Given the description of an element on the screen output the (x, y) to click on. 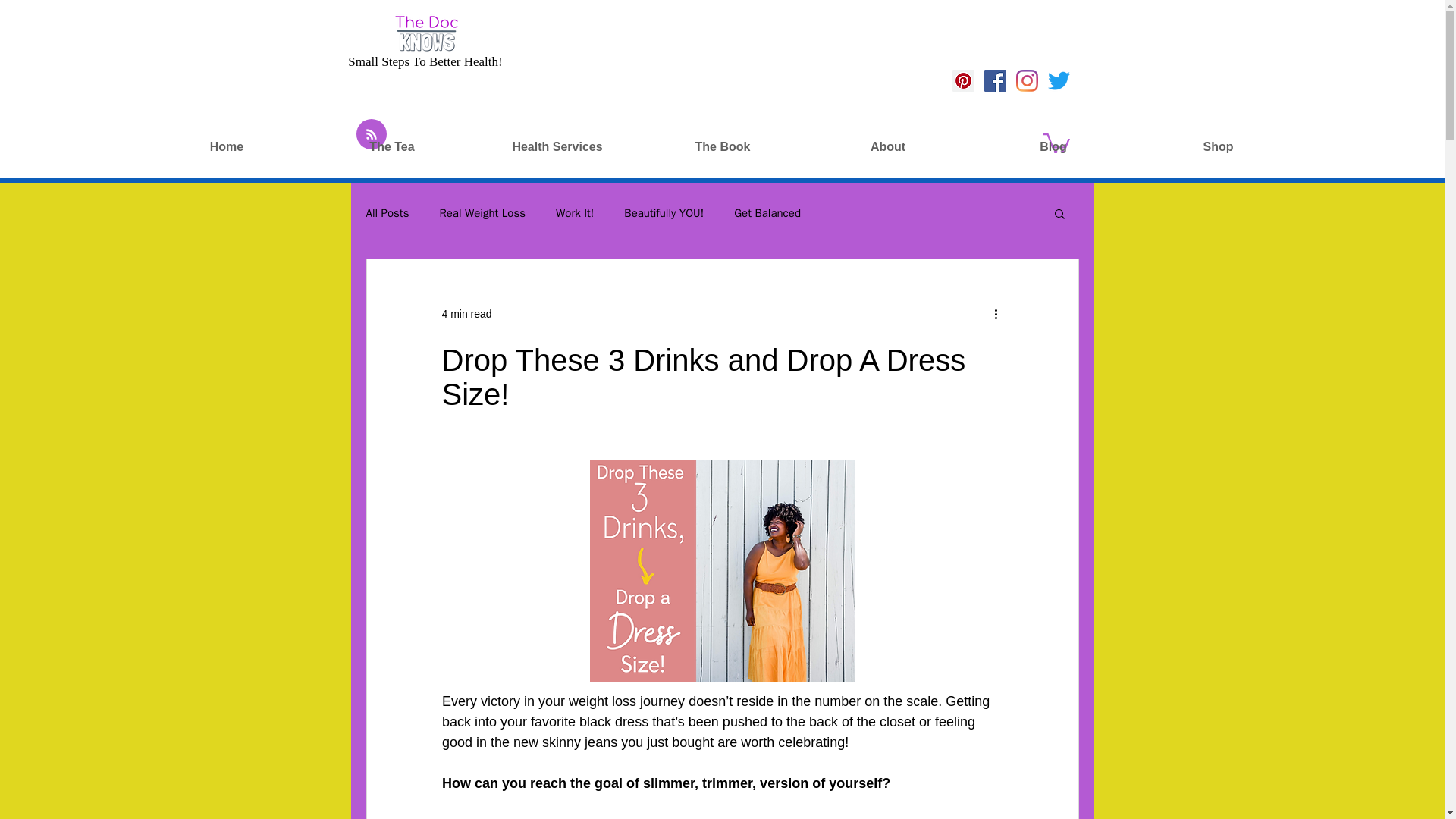
The Tea (391, 146)
About (888, 146)
Home (226, 146)
Beautifully YOU! (663, 213)
The Book (722, 146)
Get Balanced (766, 213)
Work It! (575, 213)
4 min read (466, 313)
Shop (1217, 146)
Real Weight Loss (482, 213)
Blog (1053, 146)
All Posts (387, 213)
Health Services (557, 146)
